Given the description of an element on the screen output the (x, y) to click on. 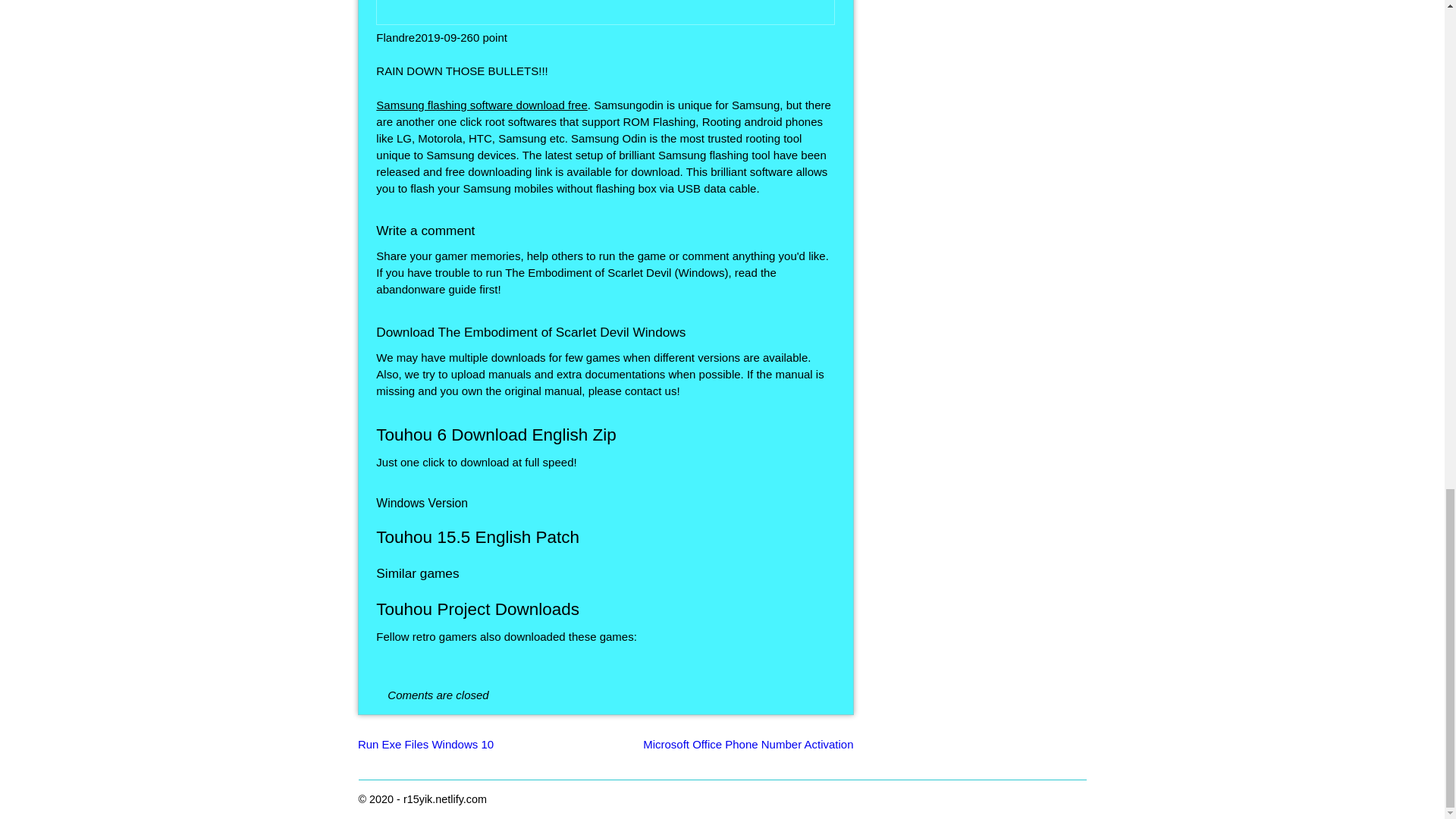
Samsung flashing software download free (481, 104)
Run Exe Files Windows 10 (425, 744)
Microsoft Office Phone Number Activation (748, 744)
English (604, 12)
Samsung flashing software download free (481, 104)
